Given the description of an element on the screen output the (x, y) to click on. 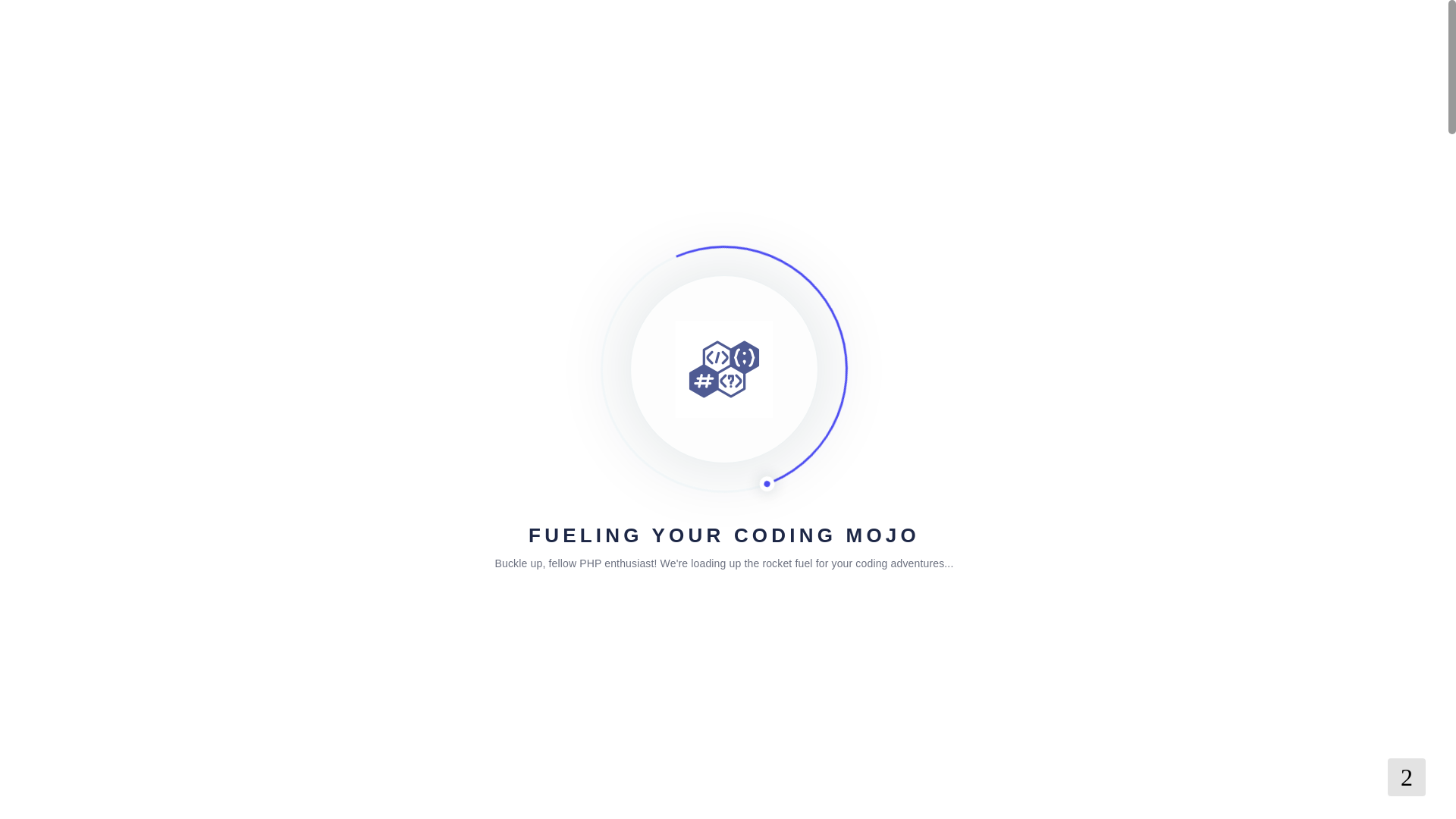
Ask Question (882, 441)
Community (353, 314)
PHP Jobs and Interview (455, 314)
Back to Top (1406, 777)
nicolas.hamill (329, 433)
Home (294, 314)
Advertisement (1073, 790)
